Given the description of an element on the screen output the (x, y) to click on. 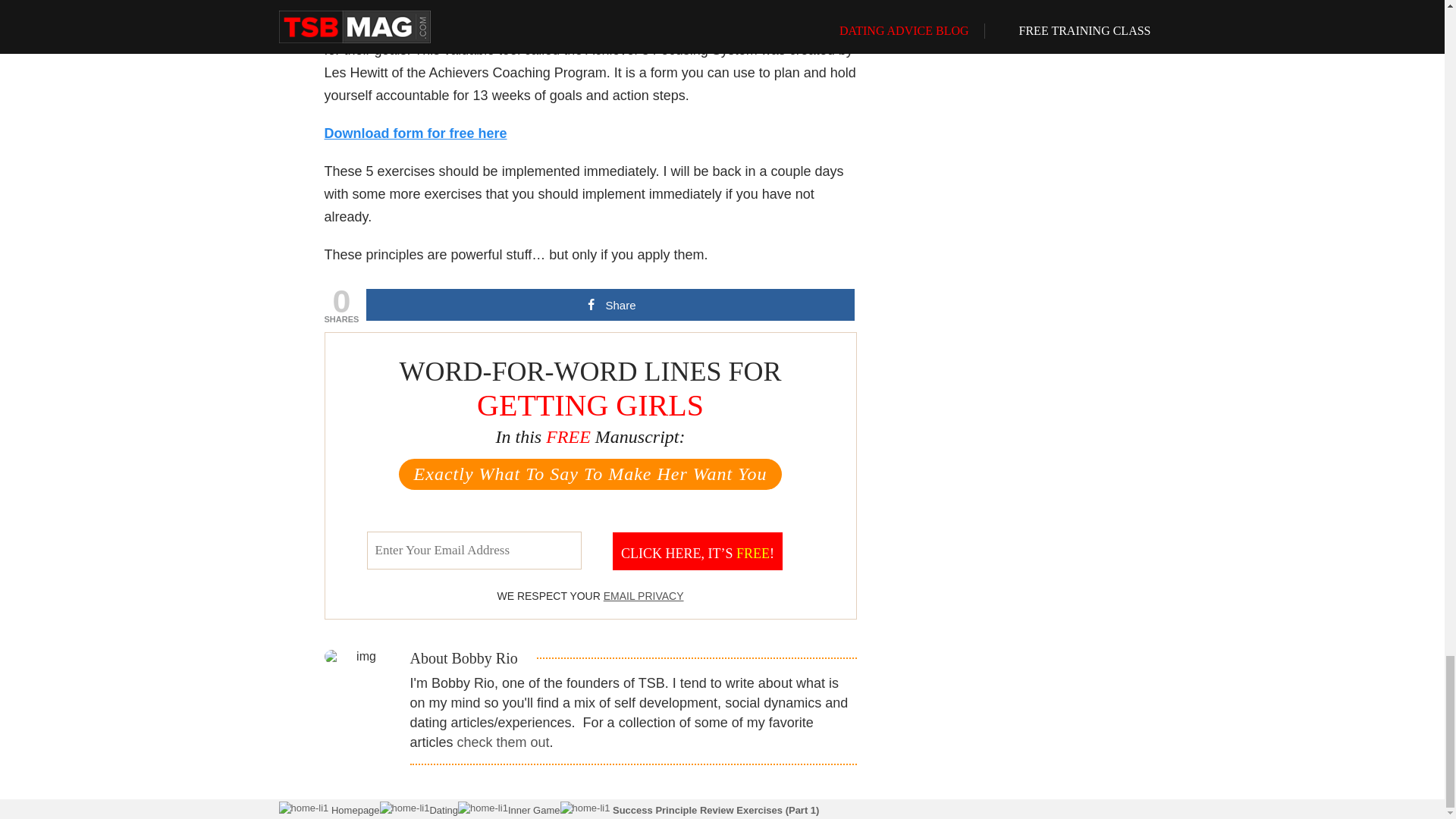
check them out (503, 742)
Share (609, 305)
Homepage (353, 809)
Download form for free here (415, 133)
Inner Game (534, 809)
EMAIL PRIVACY (644, 595)
Dating (443, 809)
Homepage (353, 809)
